Given the description of an element on the screen output the (x, y) to click on. 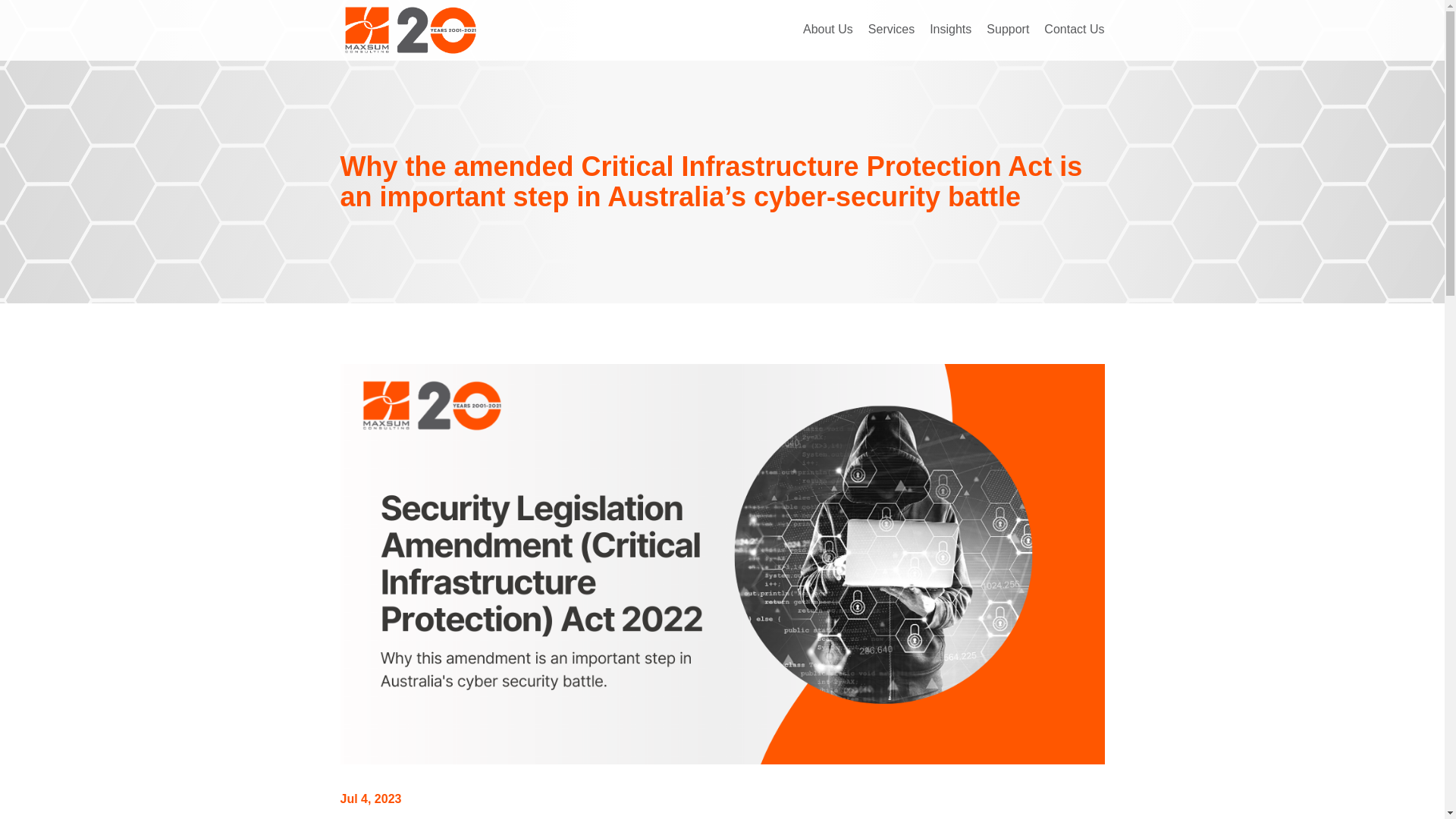
Services (890, 30)
Support (1008, 30)
About Us (828, 30)
Insights (950, 30)
Contact Us (1073, 30)
